Given the description of an element on the screen output the (x, y) to click on. 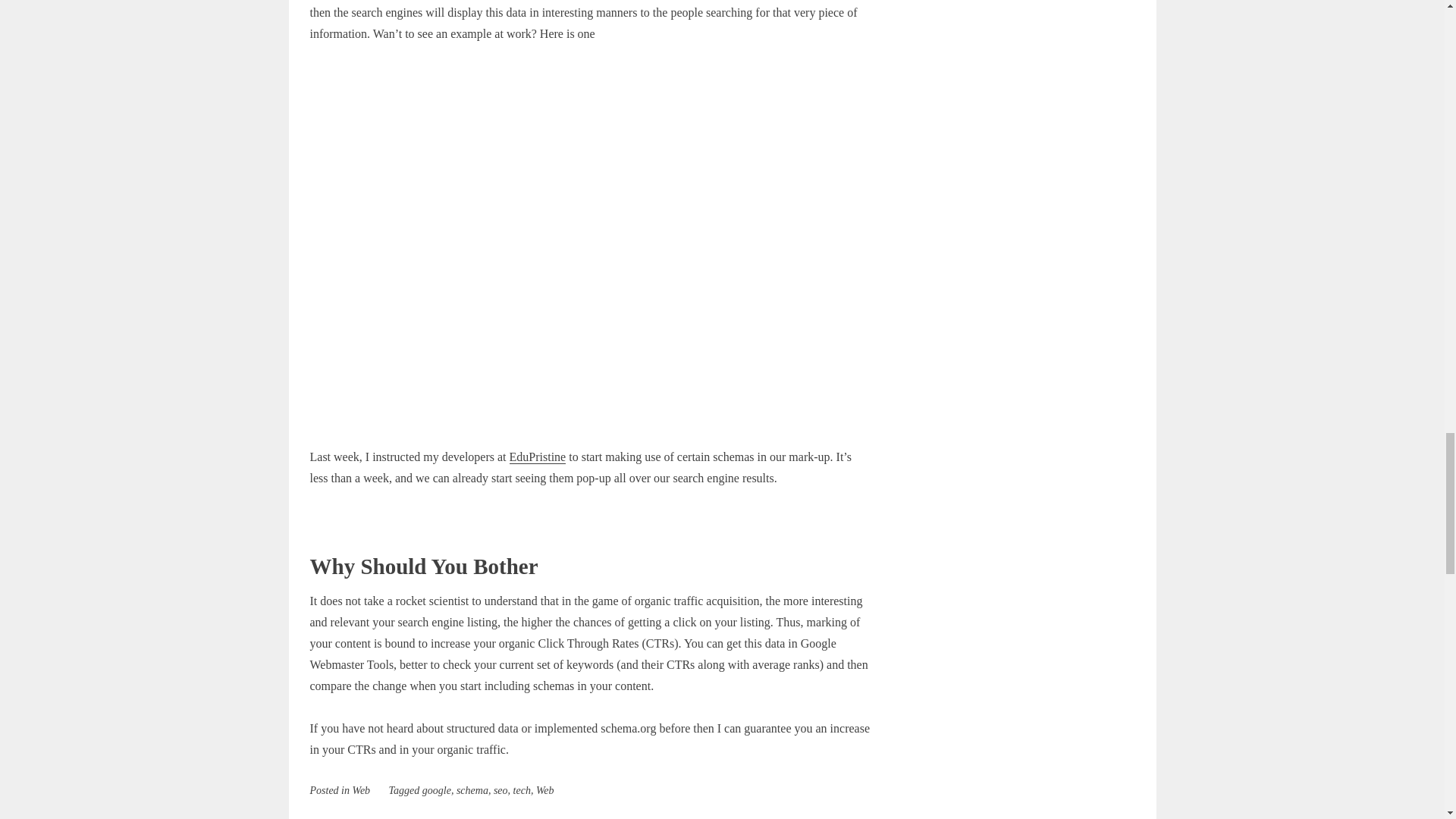
schema (472, 790)
Schema Display (590, 245)
EduPristine (537, 456)
tech (522, 790)
Web (360, 790)
seo (500, 790)
Web (544, 790)
google (436, 790)
